Given the description of an element on the screen output the (x, y) to click on. 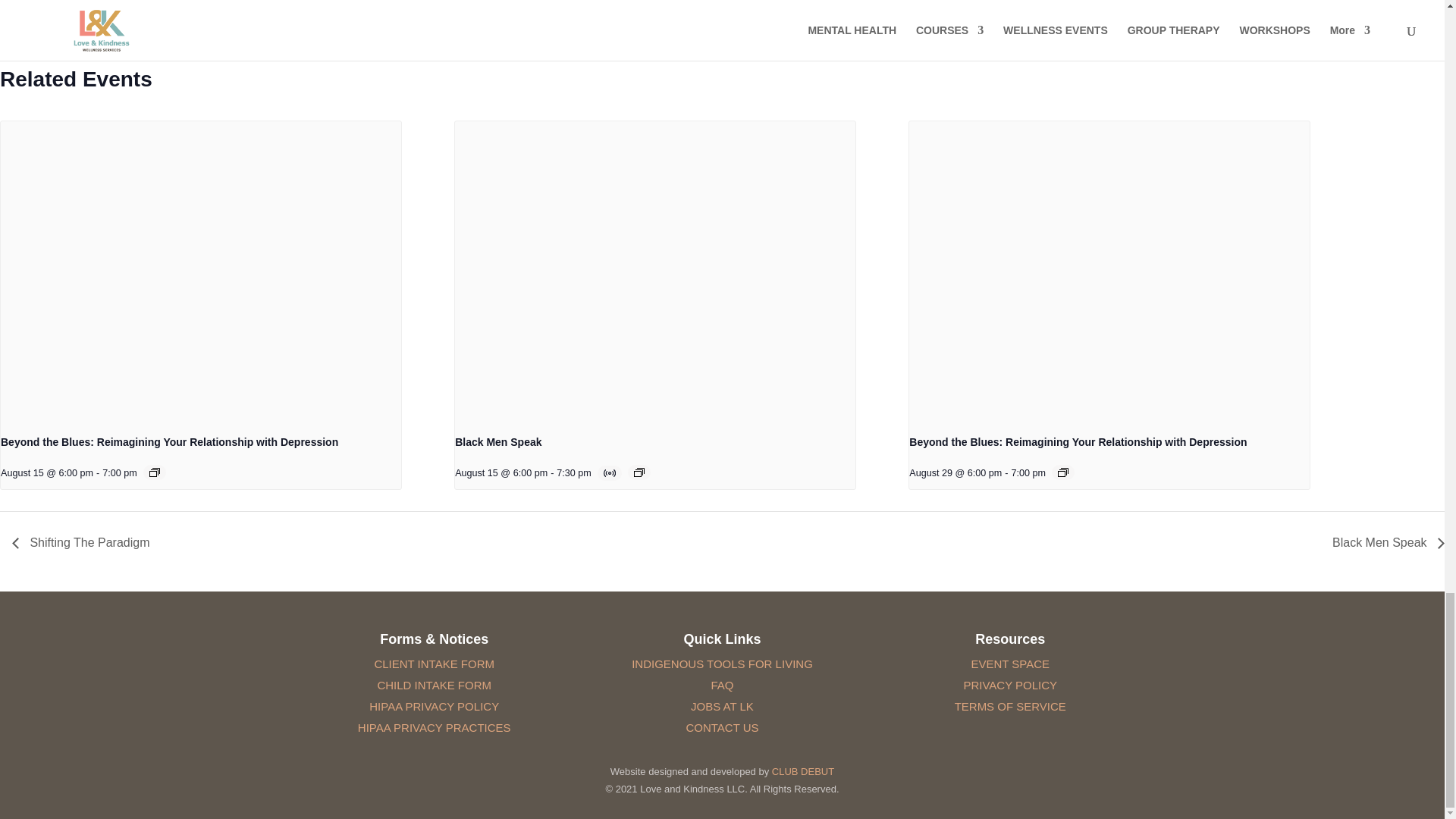
Black Men Speak (497, 441)
Recurring Event (154, 471)
Virtual Event (611, 472)
Recurring Event (1063, 471)
Shifting The Paradigm (84, 542)
CLIENT INTAKE FORM (434, 663)
HIPAA PRIVACY POLICY (434, 706)
CHILD INTAKE FORM (434, 684)
